Given the description of an element on the screen output the (x, y) to click on. 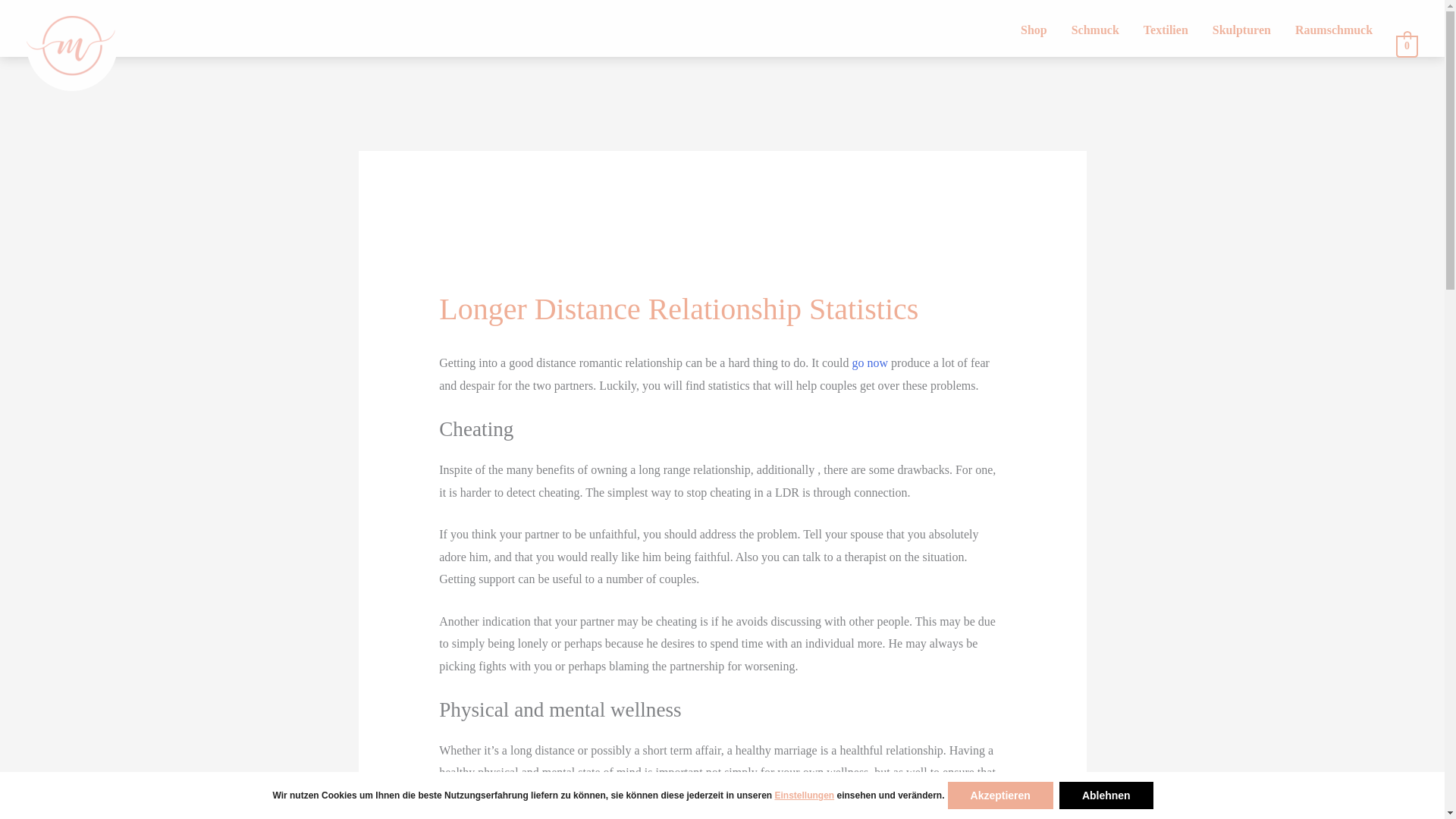
0 (1407, 44)
go now (869, 362)
Shop (1034, 29)
Skulpturen (1240, 29)
Ablehnen (1106, 795)
Raumschmuck (1333, 29)
Warenkorb ansehen (1407, 44)
Schmuck (1095, 29)
Textilien (1165, 29)
Akzeptieren (999, 795)
